Given the description of an element on the screen output the (x, y) to click on. 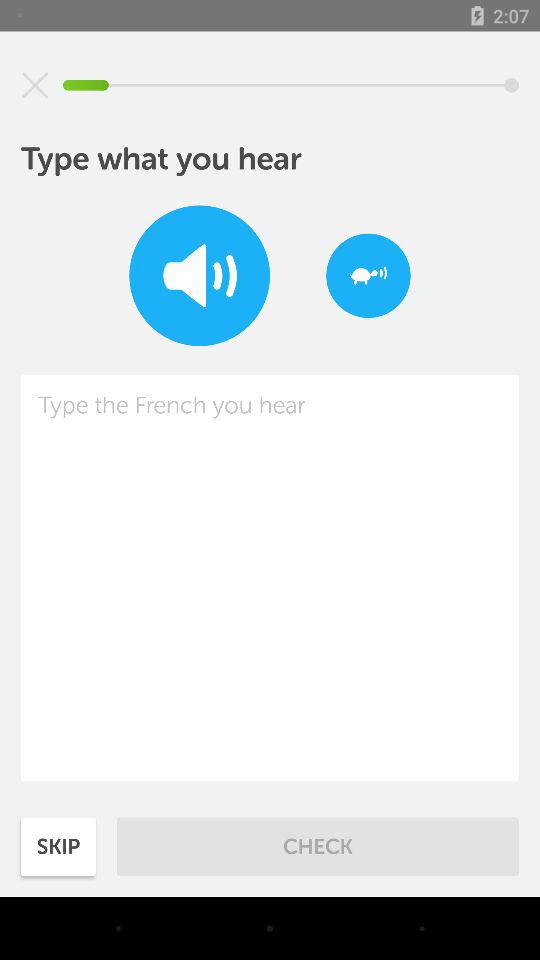
click the item at the top left corner (35, 85)
